Given the description of an element on the screen output the (x, y) to click on. 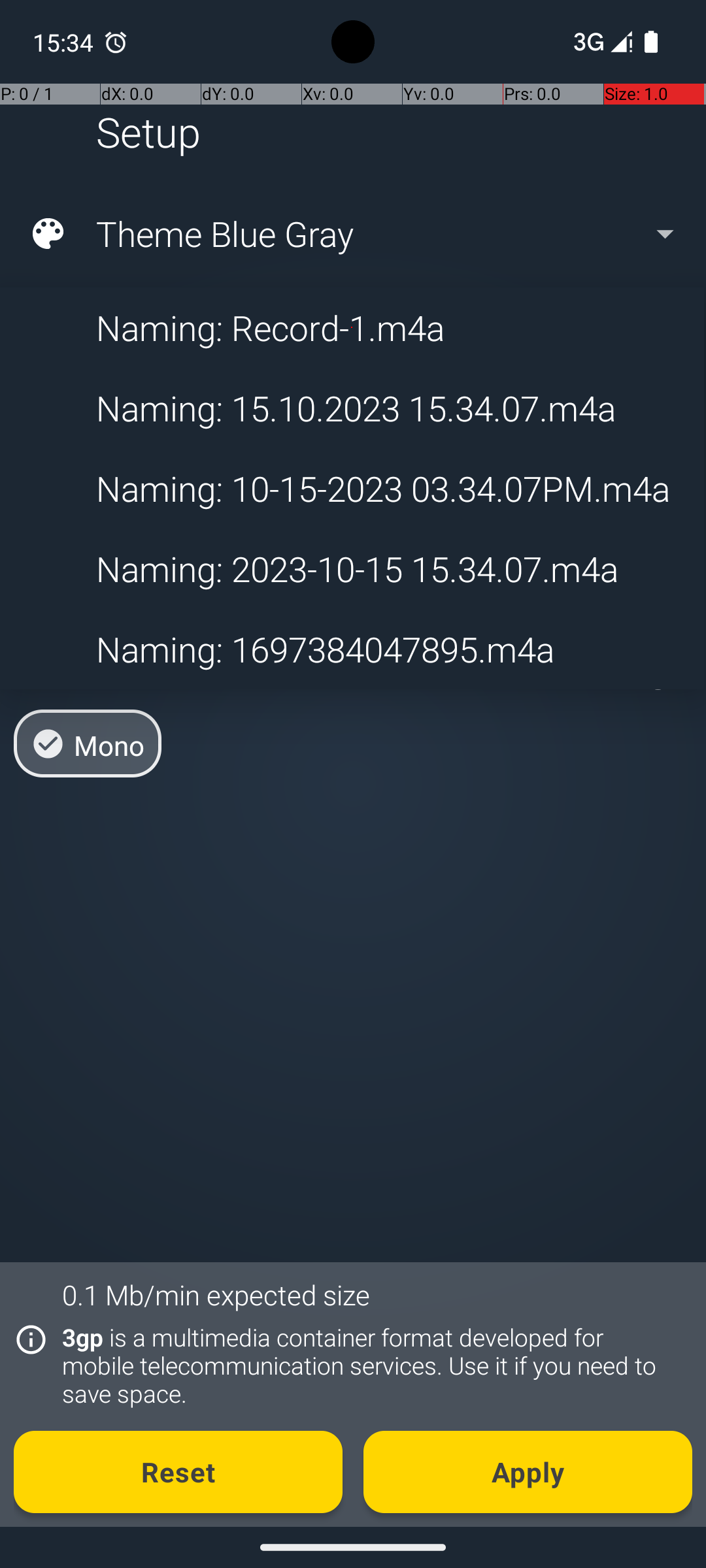
Naming: 15.10.2023 15.34.07.m4a Element type: android.widget.TextView (352, 407)
Naming: 10-15-2023 03.34.07PM.m4a Element type: android.widget.TextView (352, 488)
Naming: 2023-10-15 15.34.07.m4a Element type: android.widget.TextView (352, 568)
Naming: 1697384047895.m4a Element type: android.widget.TextView (352, 648)
Clock notification: Missed alarm Element type: android.widget.ImageView (115, 41)
